Given the description of an element on the screen output the (x, y) to click on. 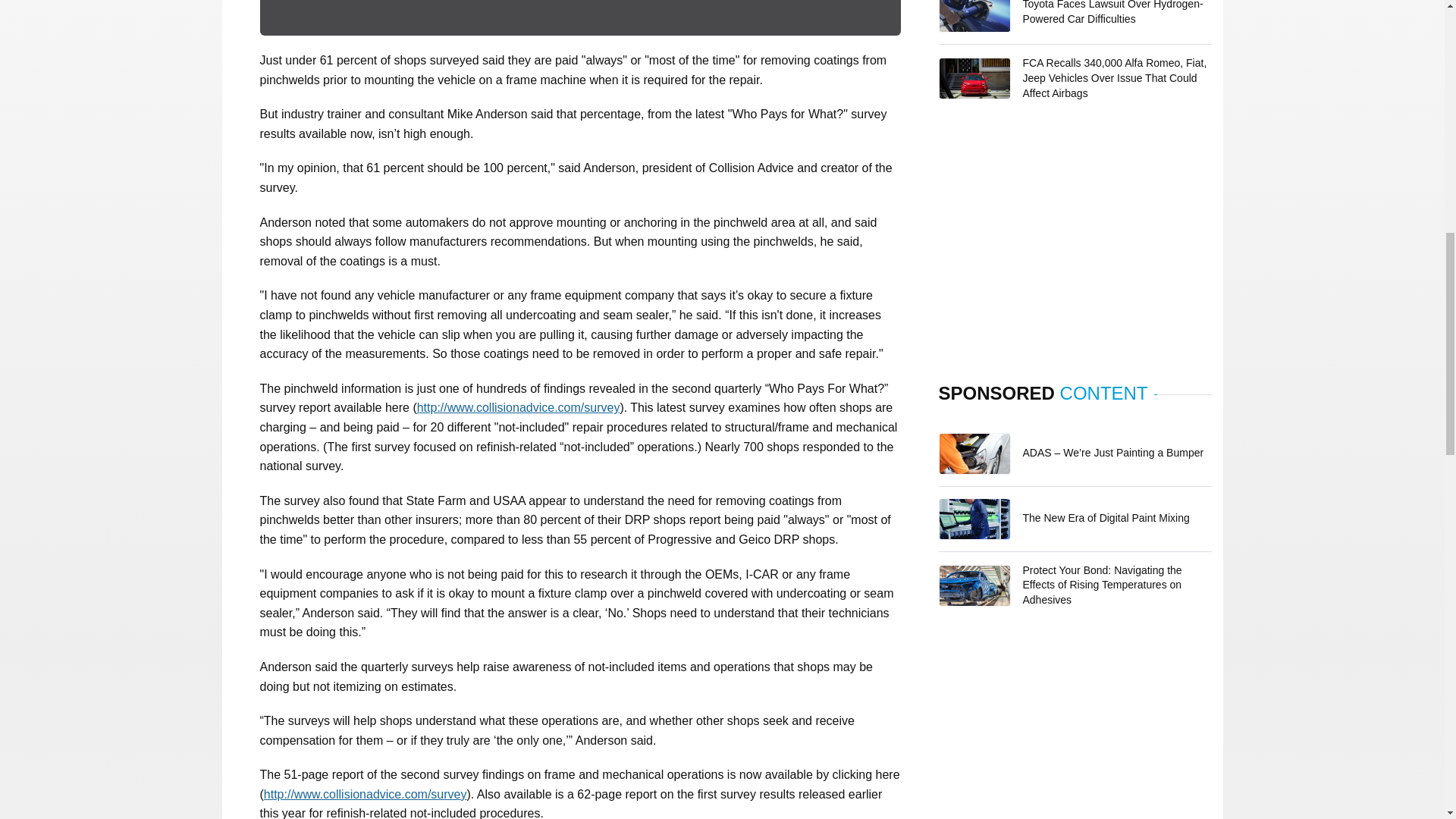
3rd party ad content (1074, 730)
3rd party ad content (1074, 246)
